Given the description of an element on the screen output the (x, y) to click on. 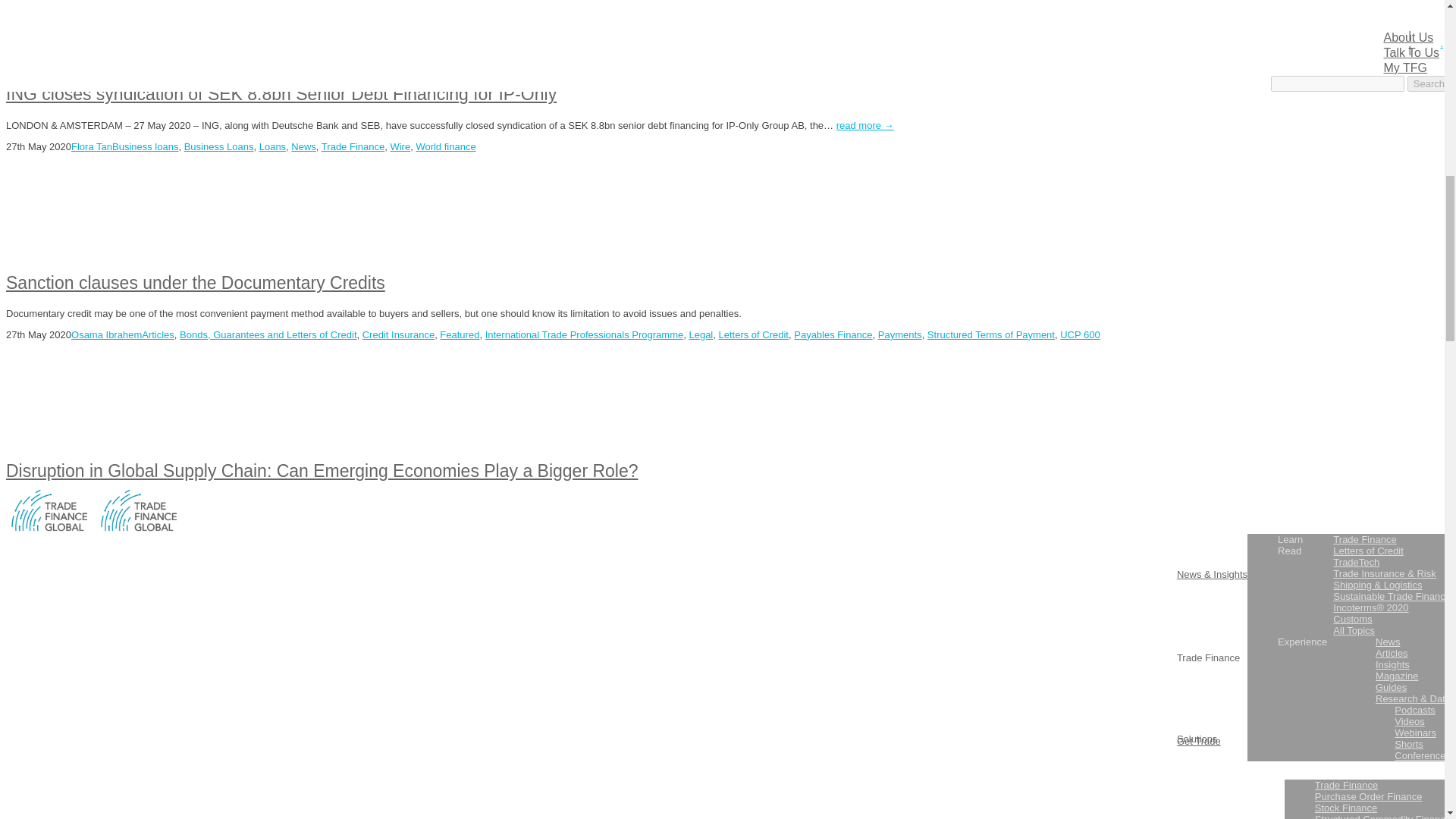
View all posts by Flora Tan (91, 146)
